Given the description of an element on the screen output the (x, y) to click on. 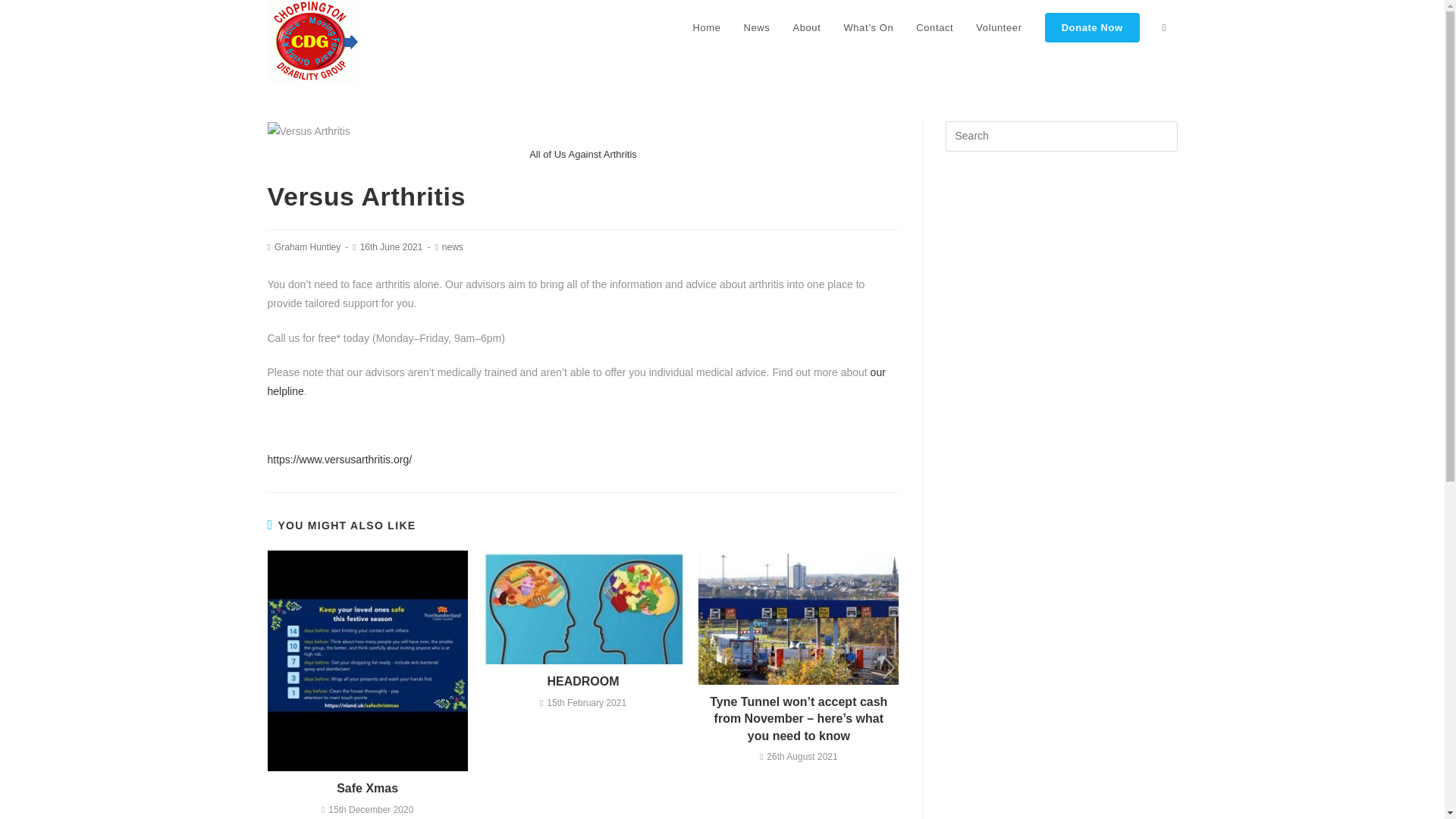
Contact (933, 28)
Donate Now (1092, 28)
About (805, 28)
Helpline (575, 381)
Graham Huntley (307, 246)
Safe Xmas (367, 788)
HEADROOM (583, 681)
news (452, 246)
Volunteer (997, 28)
HEADROOM (583, 681)
